Given the description of an element on the screen output the (x, y) to click on. 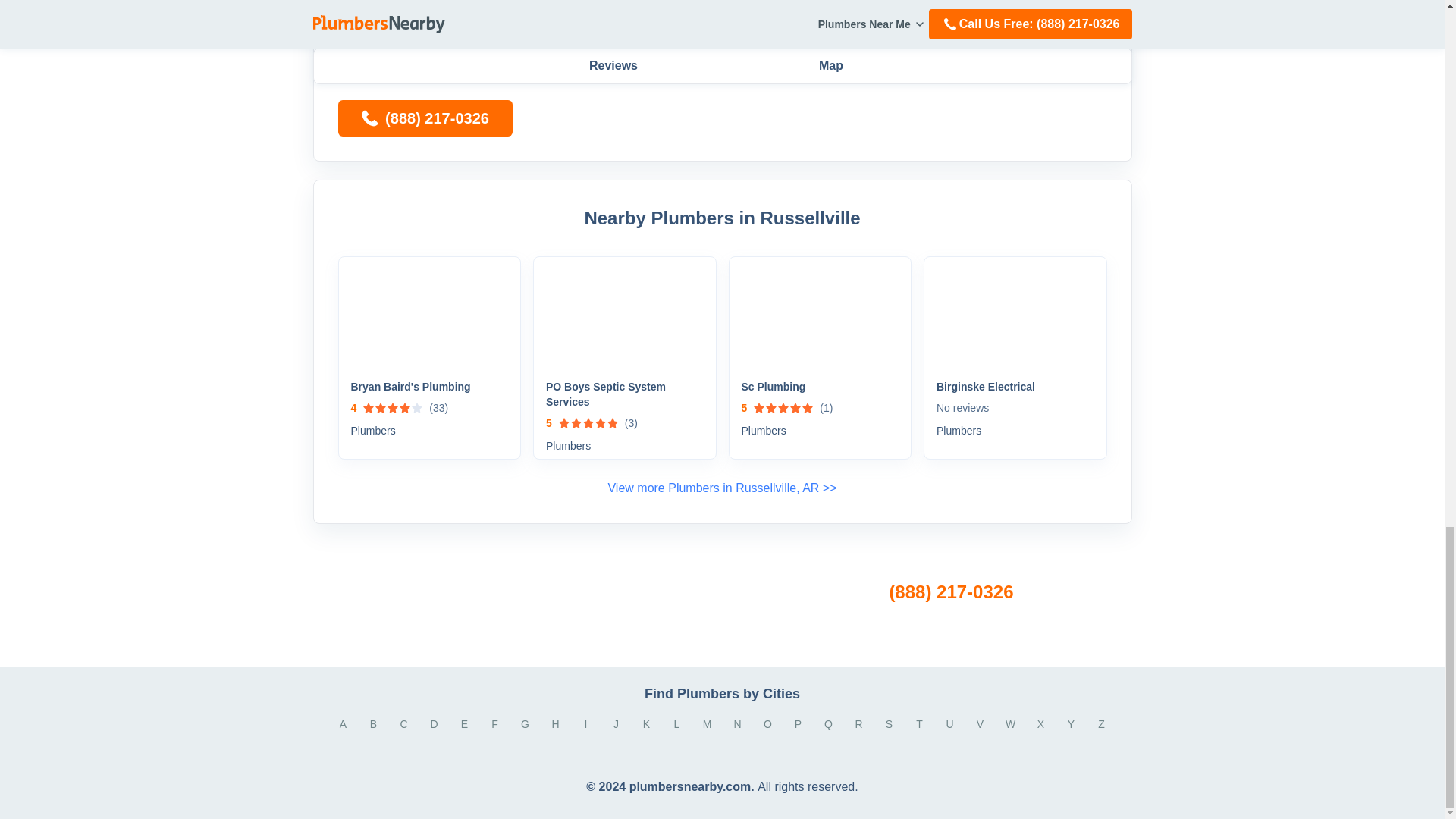
Birginske Electrical (1015, 386)
PO Boys Septic System Services (624, 394)
Bryan Baird's Plumbing (429, 386)
Sc Plumbing (820, 386)
